Given the description of an element on the screen output the (x, y) to click on. 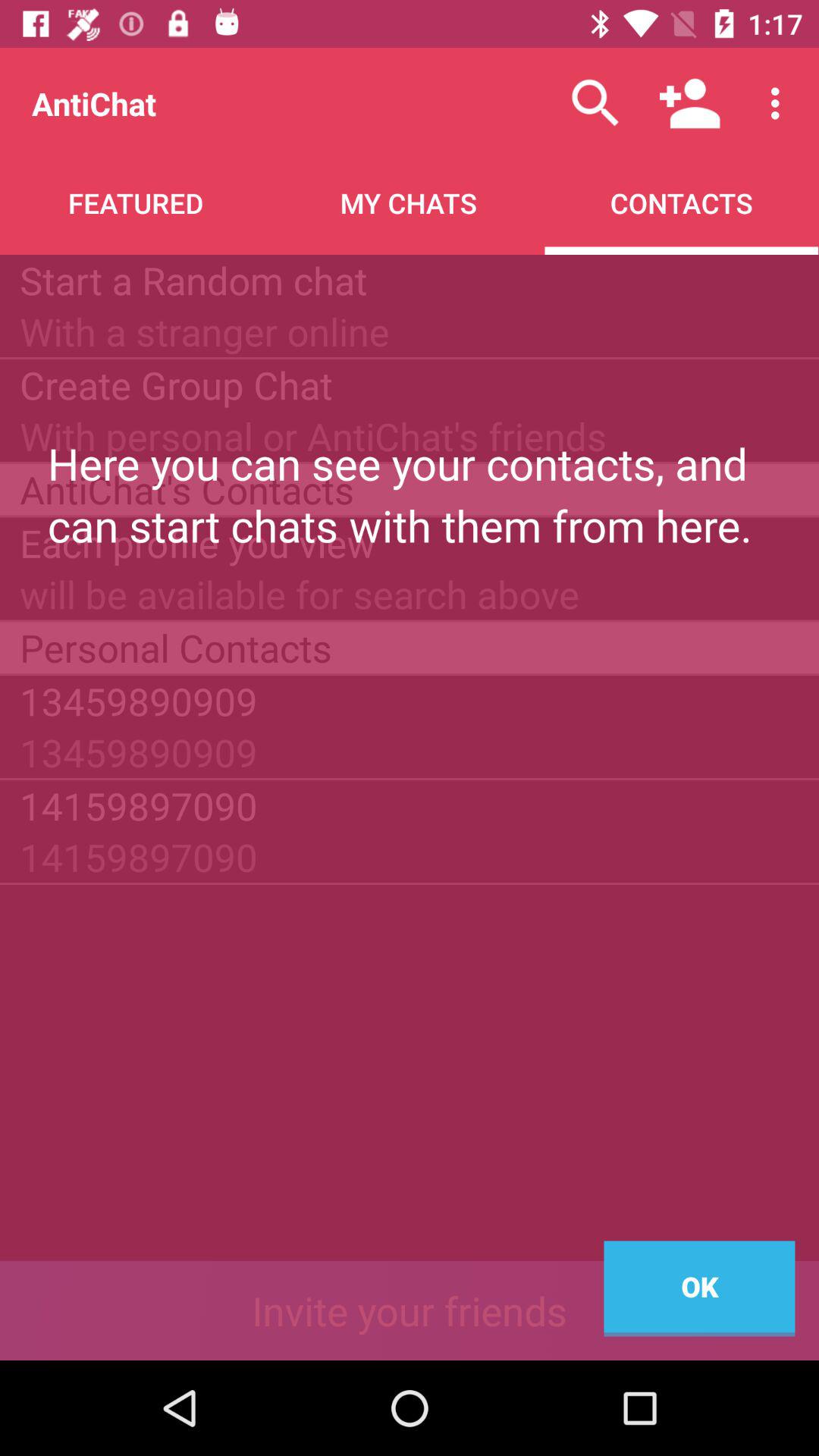
open advertisement (409, 1310)
